Given the description of an element on the screen output the (x, y) to click on. 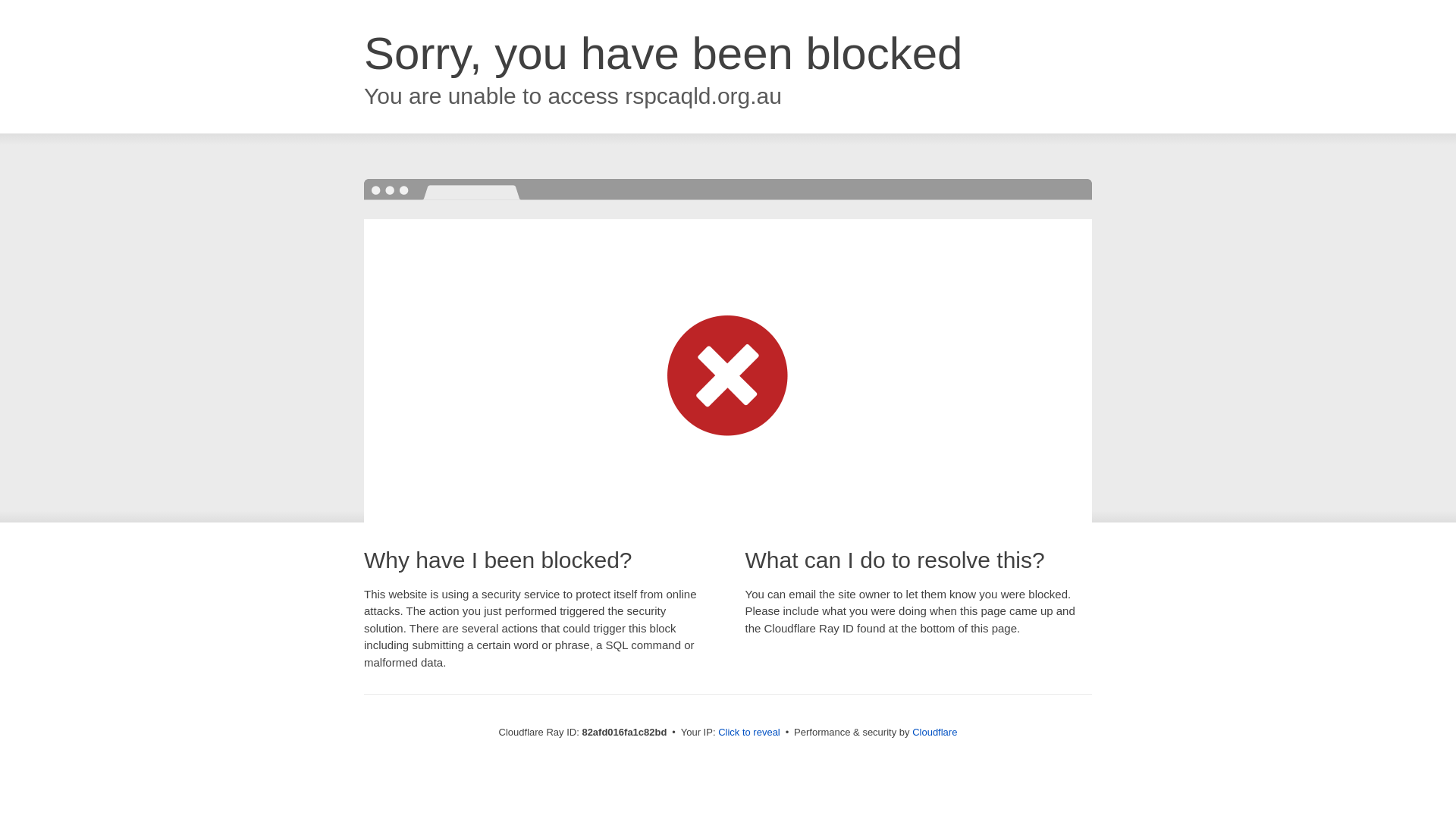
Click to reveal Element type: text (749, 732)
Cloudflare Element type: text (934, 731)
